Given the description of an element on the screen output the (x, y) to click on. 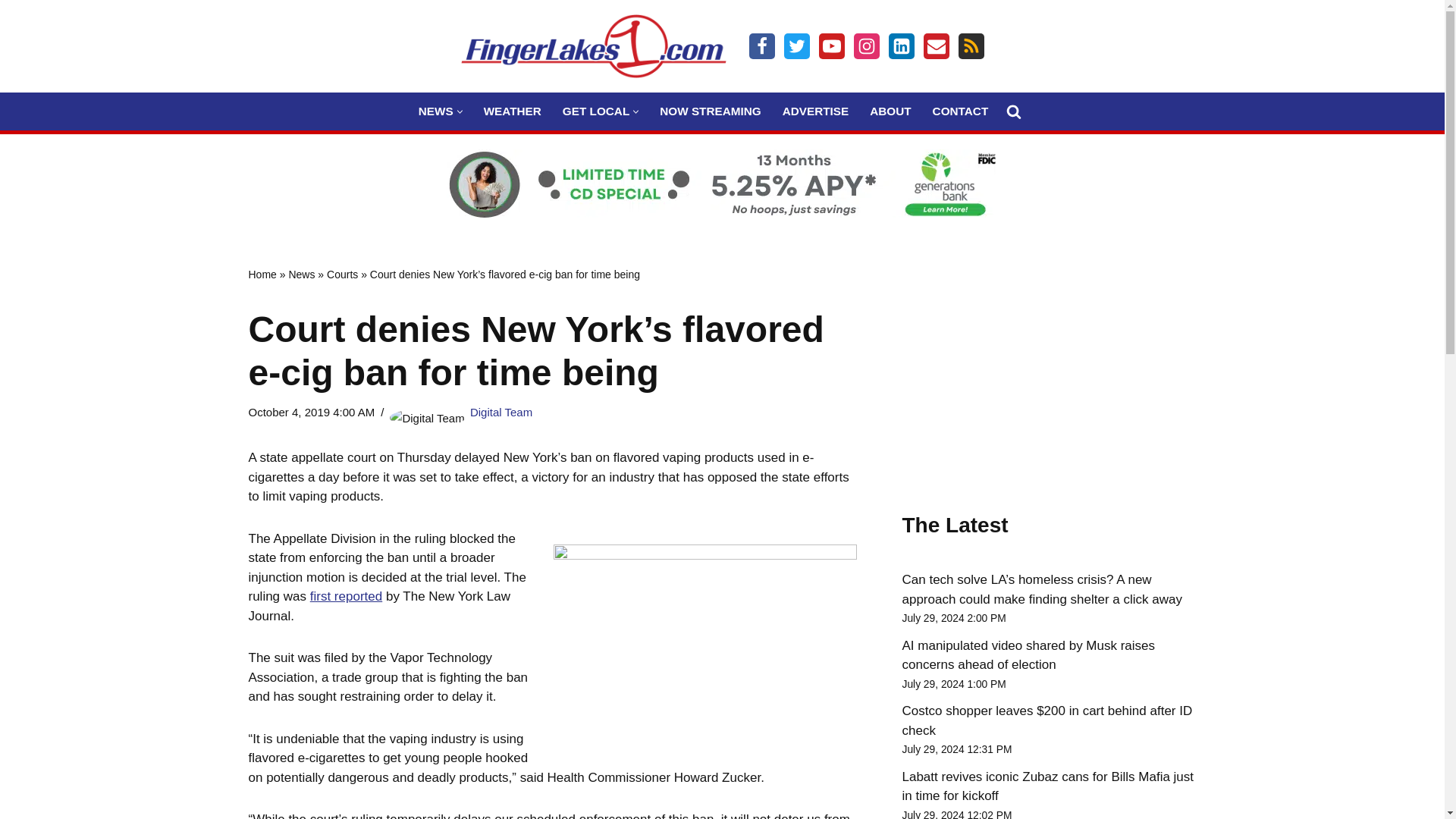
Skip to content (11, 31)
ABOUT (890, 111)
WEATHER (512, 111)
Twitter (796, 45)
Instagram (866, 45)
ADVERTISE (815, 111)
Facebook (761, 45)
GET LOCAL (595, 111)
LinkIn (901, 45)
Email Us (936, 45)
Youtube (831, 45)
NEWS (435, 111)
CONTACT (960, 111)
Posts by Digital Team (501, 411)
Feed (971, 45)
